Given the description of an element on the screen output the (x, y) to click on. 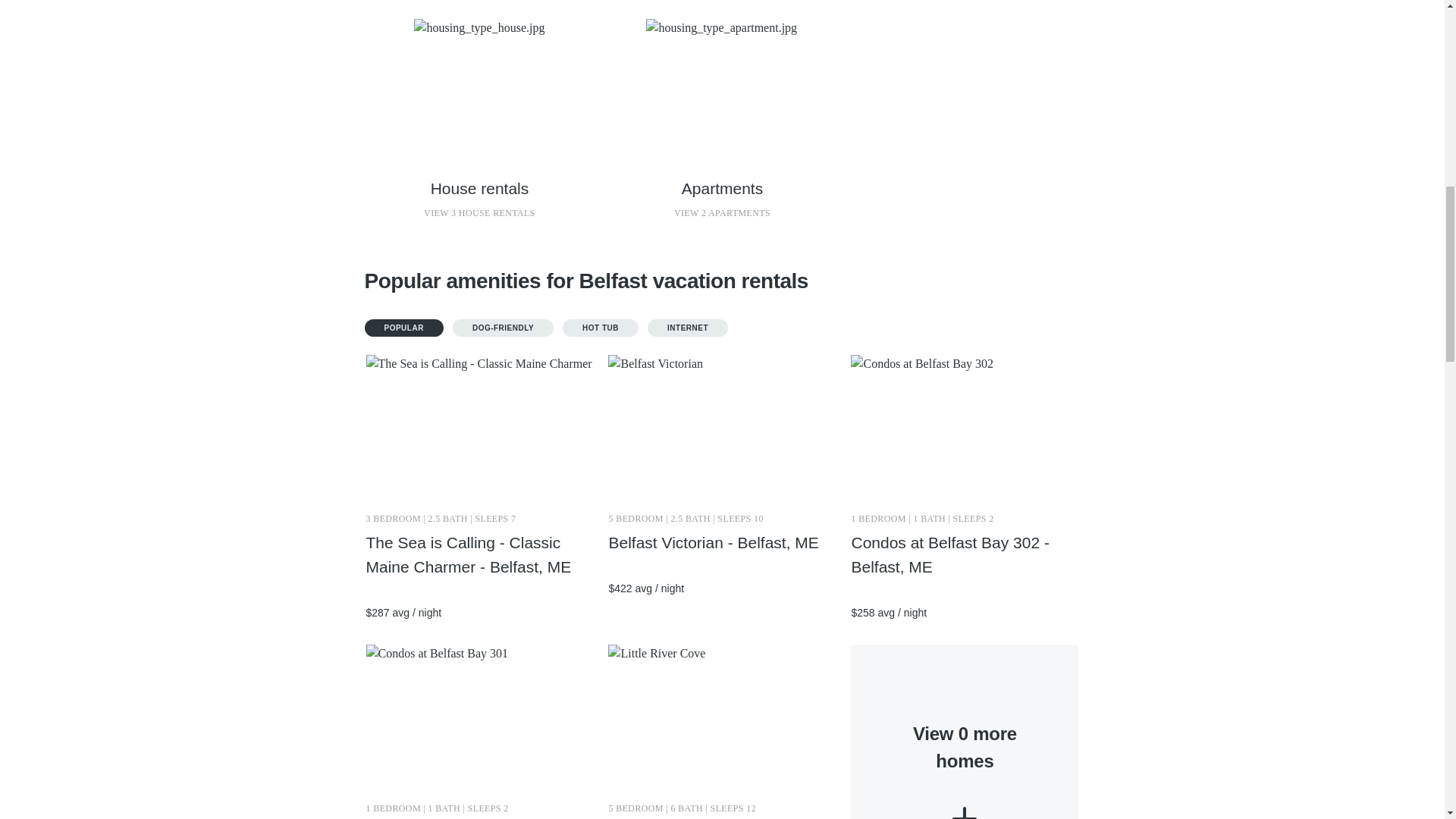
INTERNET (721, 121)
HOT TUB (687, 327)
View 0 more homes (600, 327)
DOG-FRIENDLY (964, 731)
